Given the description of an element on the screen output the (x, y) to click on. 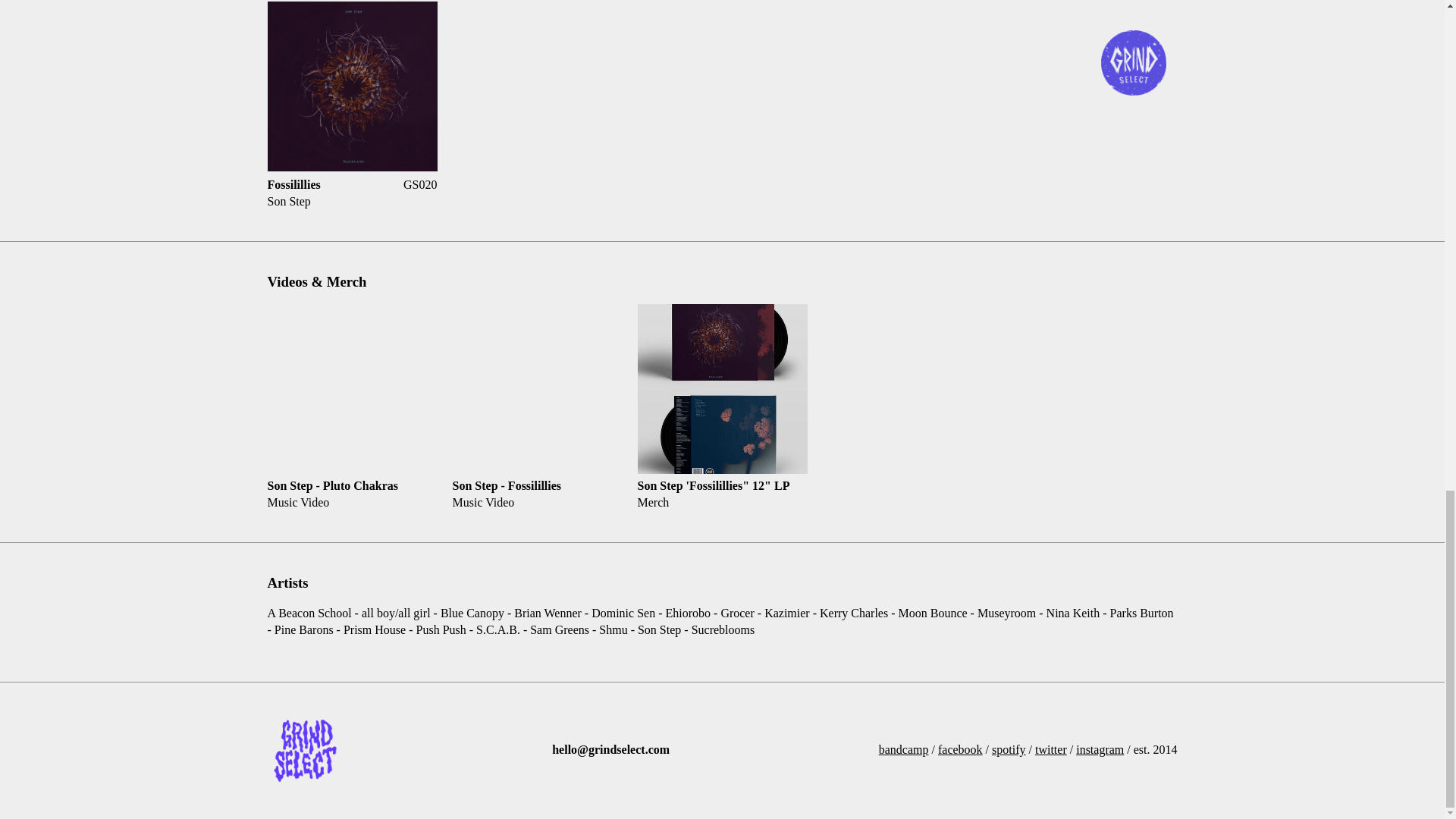
S.C.A.B. (498, 630)
Nina Keith (1072, 612)
Kerry Charles (852, 612)
Pine Barons (304, 630)
Push Push (440, 630)
Ehiorobo (687, 612)
Sam Greens (559, 630)
Dominic Sen (623, 612)
Shmu (612, 630)
Blue Canopy (472, 612)
